Given the description of an element on the screen output the (x, y) to click on. 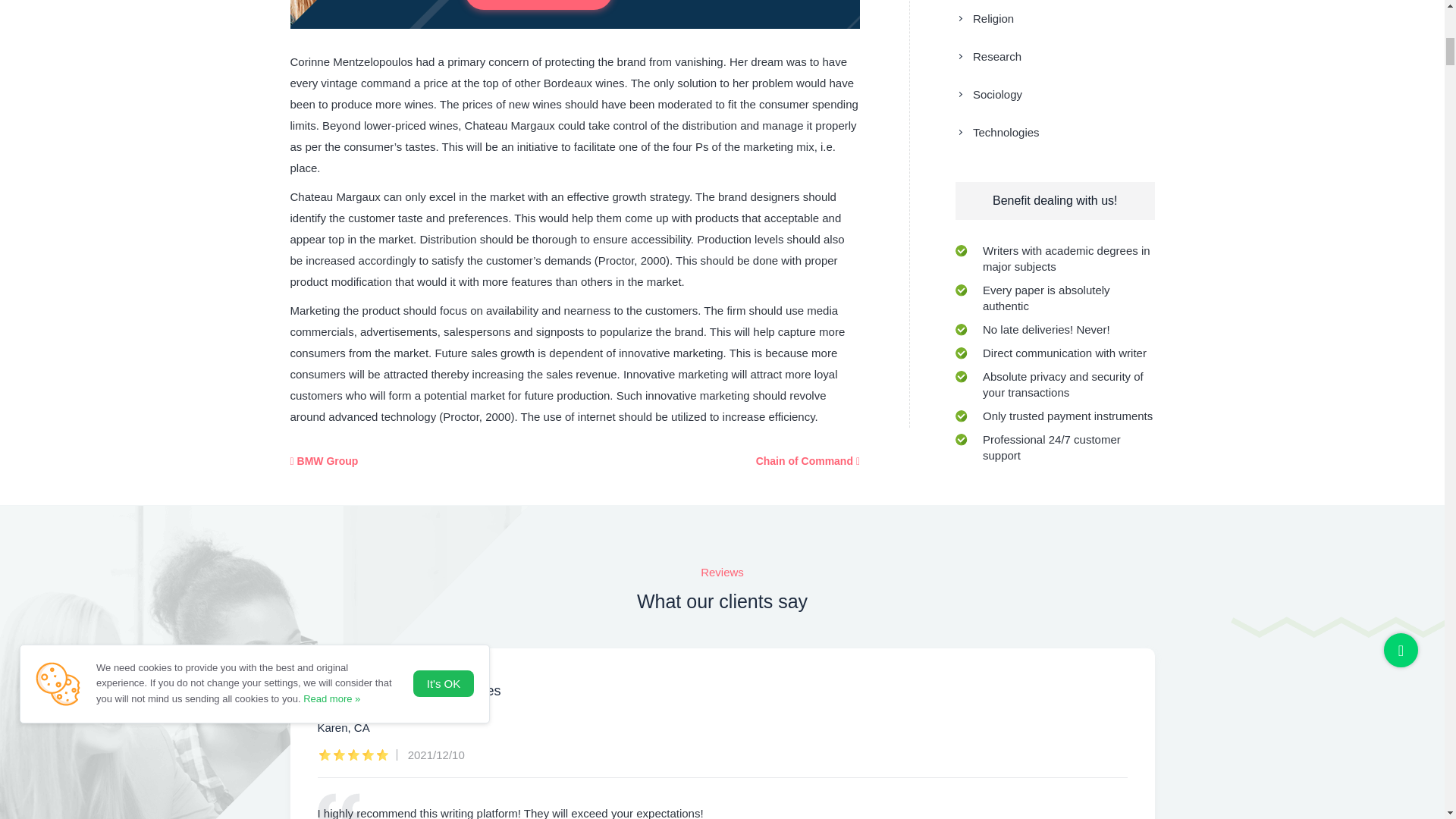
BMW Group (323, 460)
Get it now (537, 4)
Research (988, 56)
Technologies (997, 132)
Chain of Command (807, 460)
Religion (984, 18)
Sociology (988, 94)
